Given the description of an element on the screen output the (x, y) to click on. 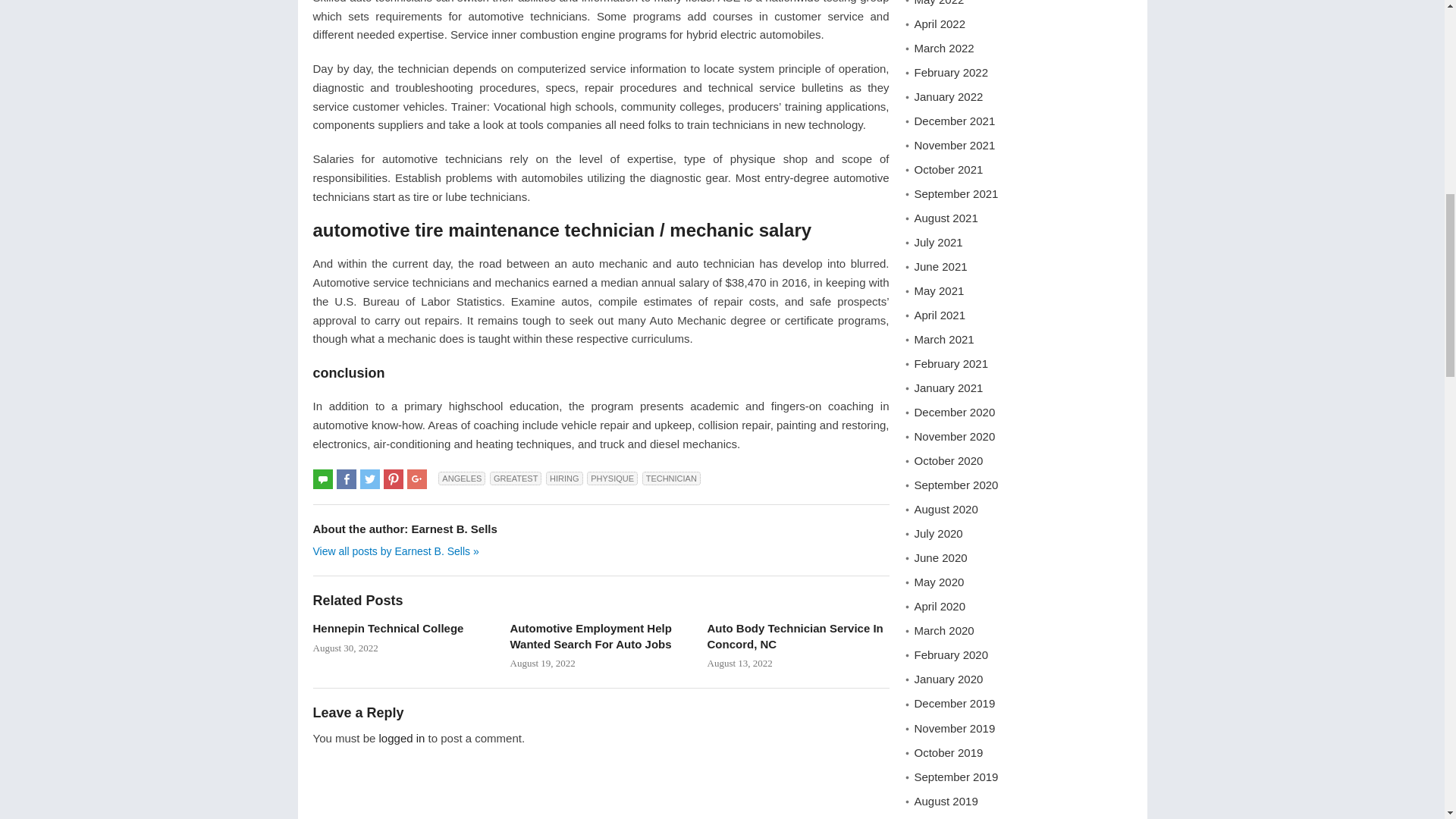
Share on Pinterest (393, 478)
Share on Twitter (369, 478)
Share on Facebook (346, 478)
